Given the description of an element on the screen output the (x, y) to click on. 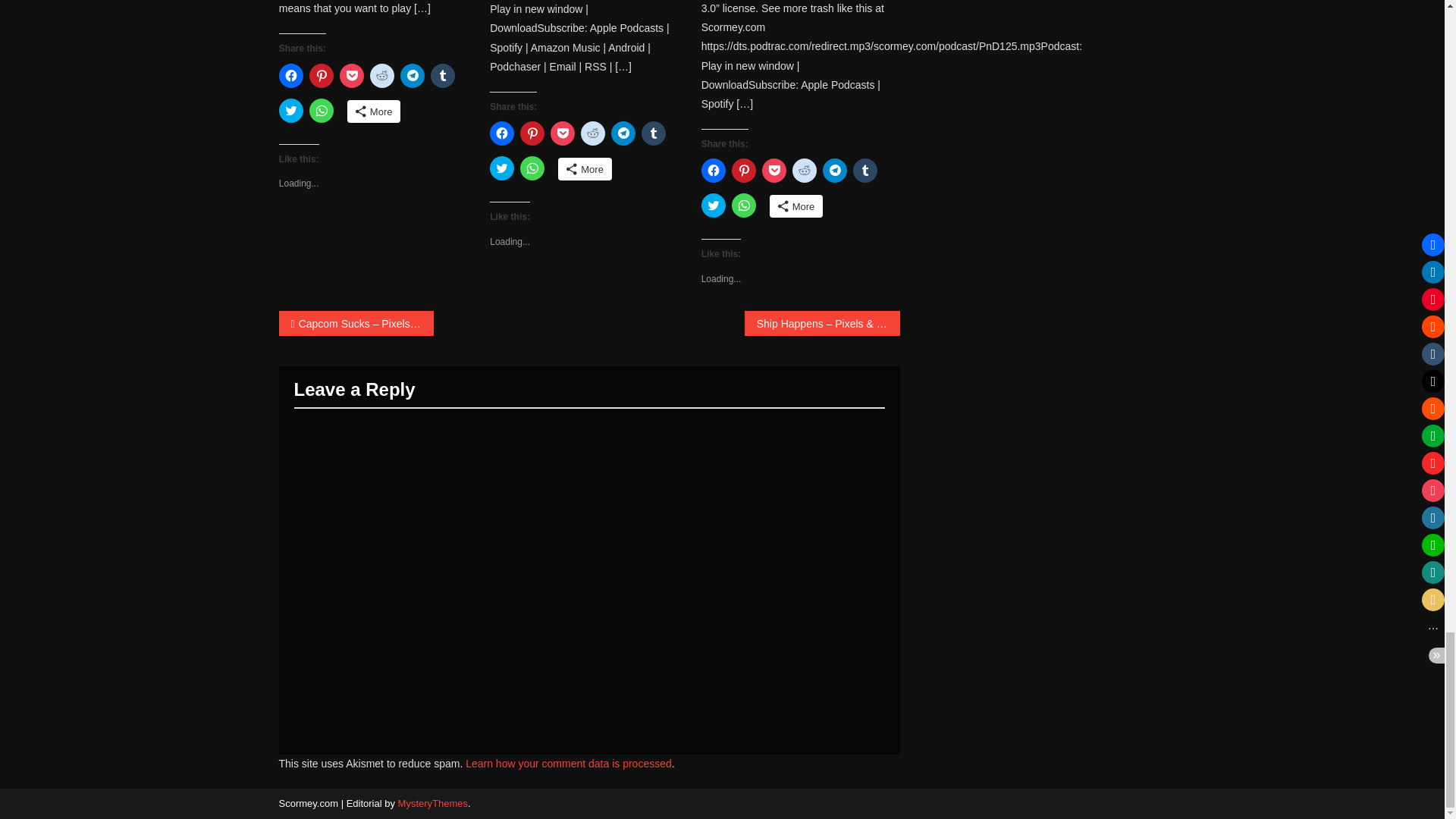
Click to share on Pinterest (320, 75)
Click to share on Tumblr (442, 75)
Click to share on Pocket (351, 75)
Click to share on Facebook (290, 75)
Click to share on Twitter (290, 110)
Click to share on Telegram (412, 75)
Click to share on Reddit (381, 75)
